Given the description of an element on the screen output the (x, y) to click on. 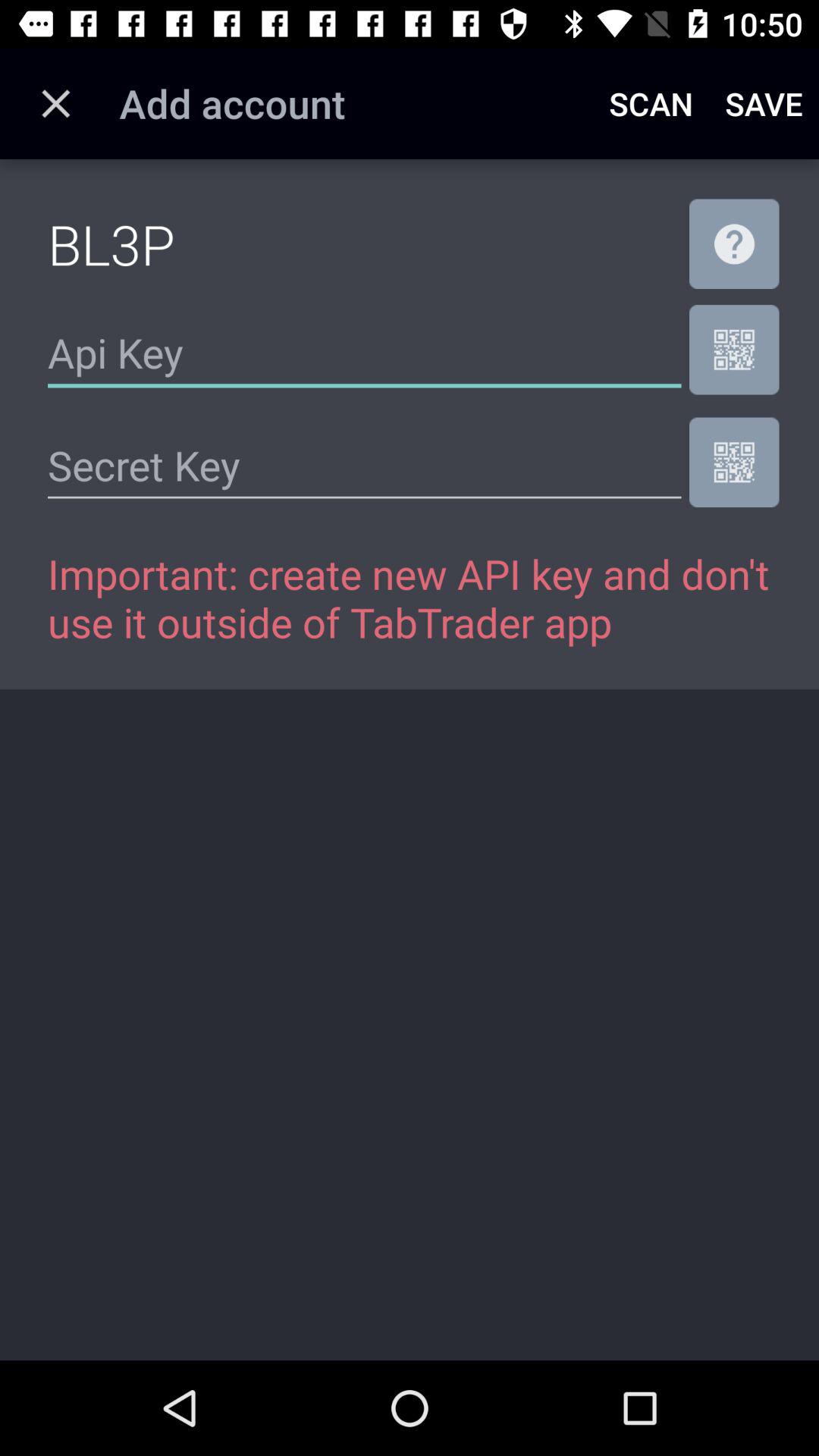
turn on the item next to the add account icon (55, 103)
